Given the description of an element on the screen output the (x, y) to click on. 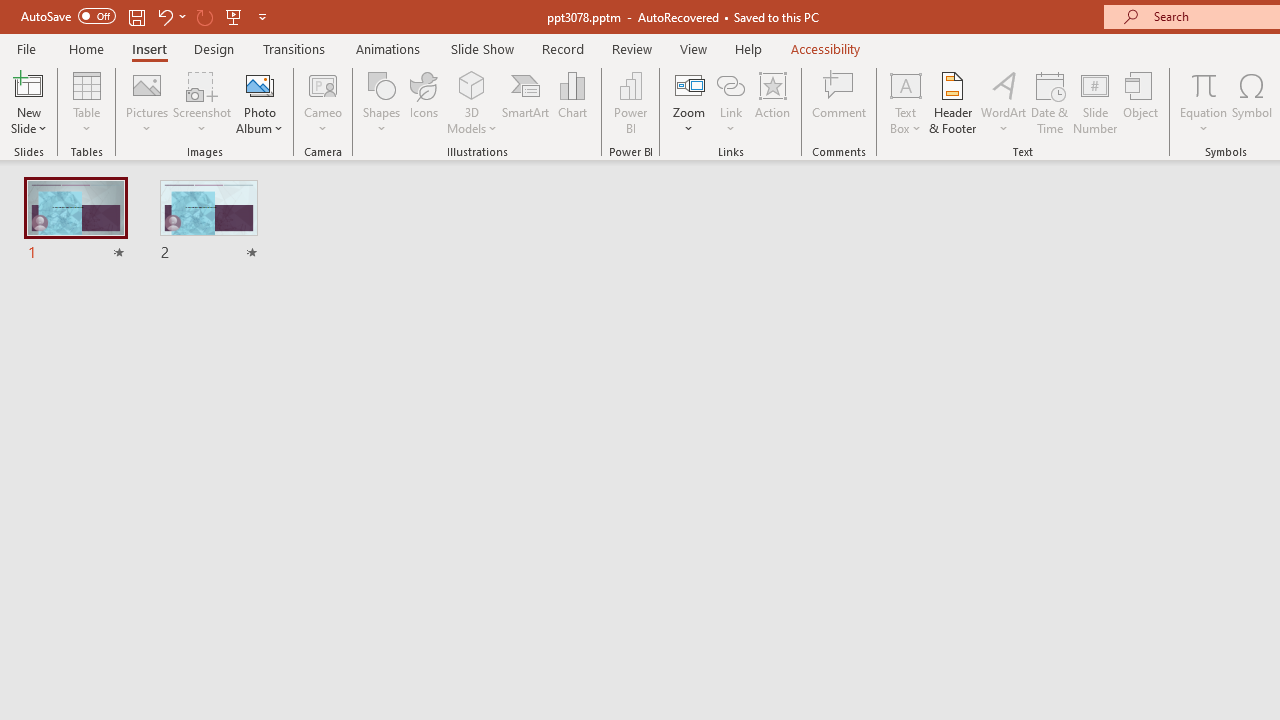
Views and More Actions... (442, 321)
Search (Ctrl+Shift+F) (135, 466)
Explorer (Ctrl+Shift+E) (135, 388)
